Given the description of an element on the screen output the (x, y) to click on. 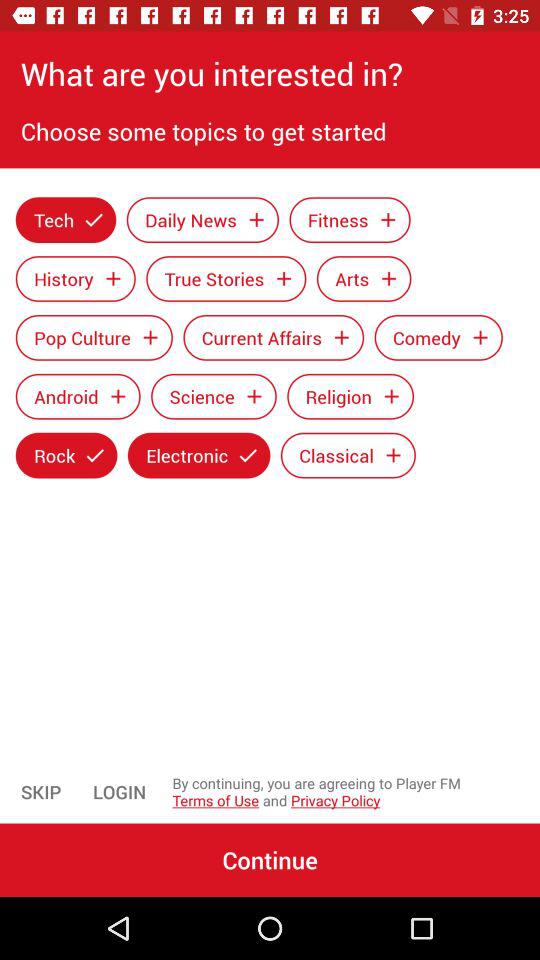
select icon to the right of skip (119, 791)
